Given the description of an element on the screen output the (x, y) to click on. 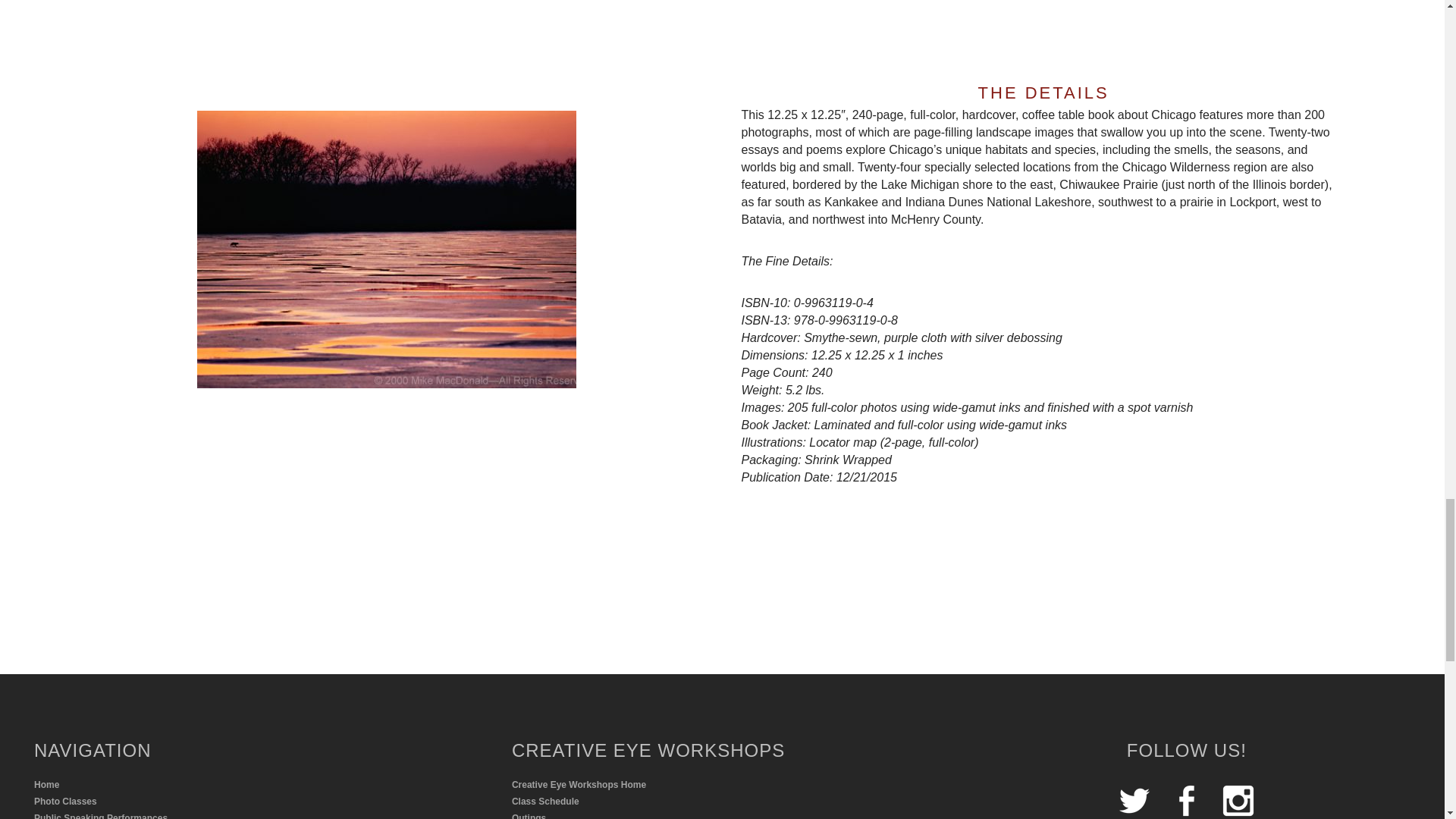
CoyoteCrossing-MASTER-800px-copyright-sRGB (386, 249)
Creative Eye Workshops by Mike MacDonald (257, 801)
